Given the description of an element on the screen output the (x, y) to click on. 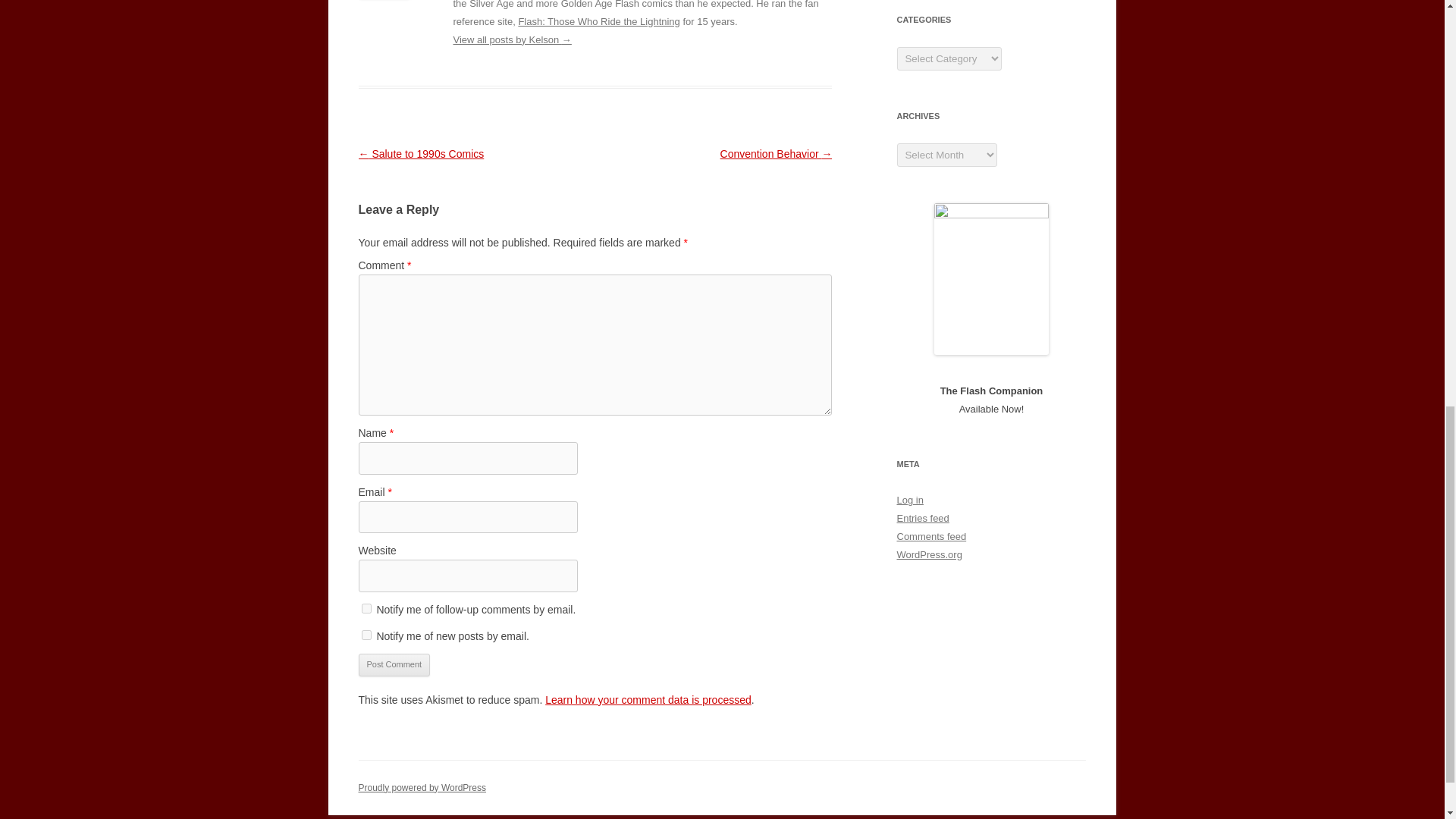
subscribe (366, 634)
Post Comment (393, 664)
Flash: Those Who Ride the Lightning (598, 21)
subscribe (366, 608)
Post Comment (393, 664)
Semantic Personal Publishing Platform (422, 787)
Learn how your comment data is processed (647, 699)
